Given the description of an element on the screen output the (x, y) to click on. 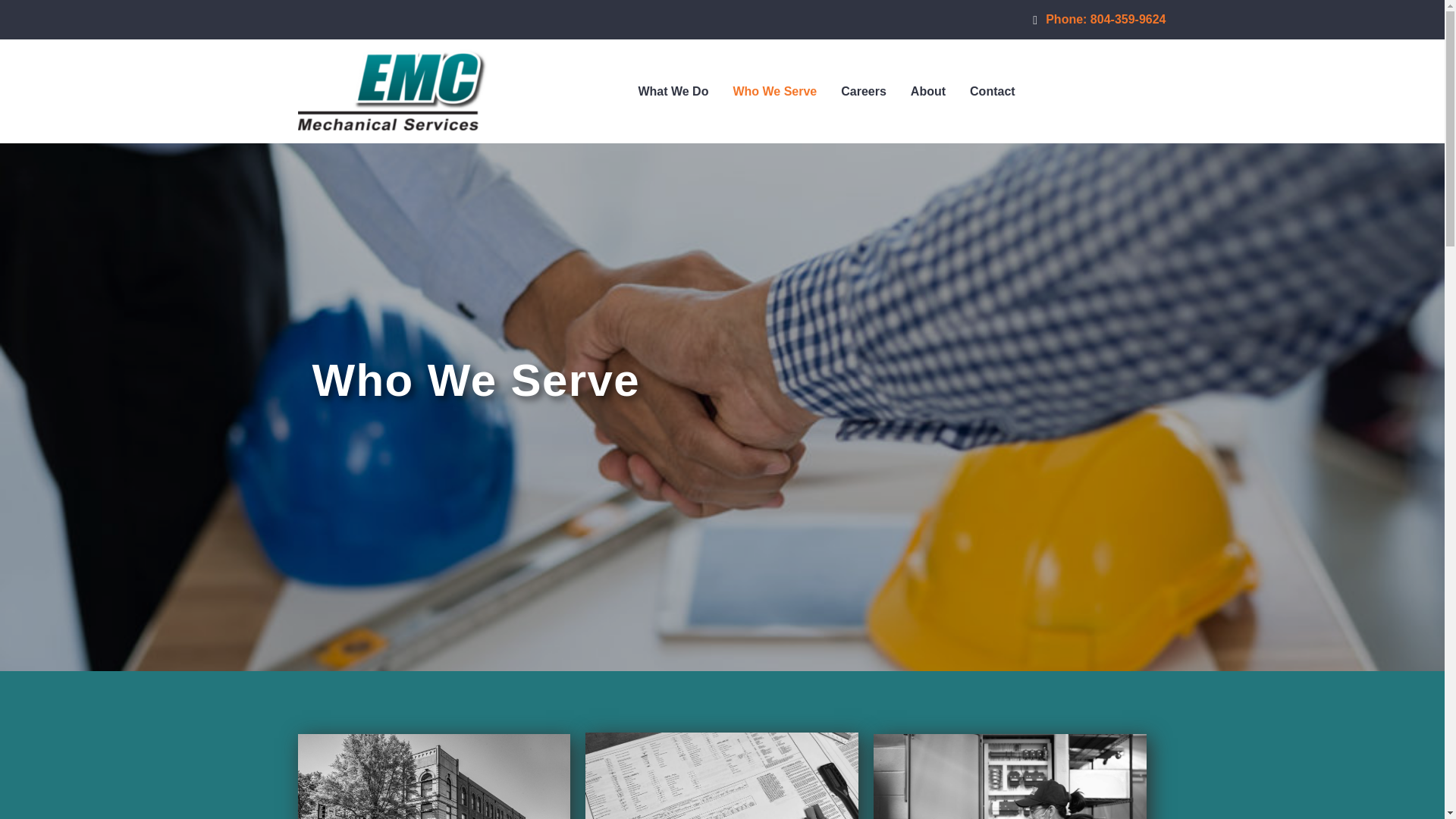
Careers (863, 91)
Who We Serve (774, 91)
What We Do (673, 91)
Phone: 804-359-9624 (1099, 19)
Contact (992, 91)
About (928, 91)
